Given the description of an element on the screen output the (x, y) to click on. 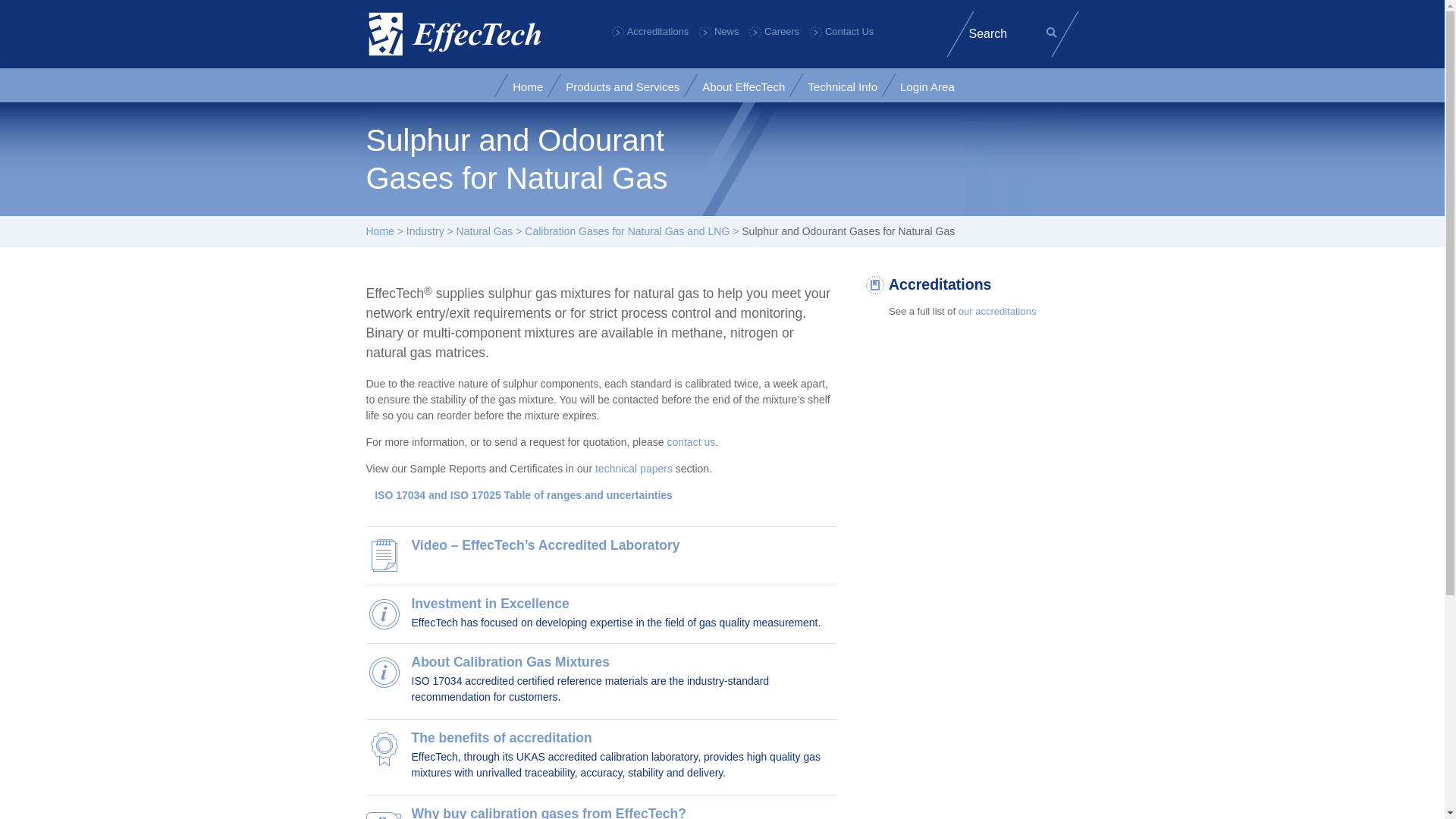
Careers (774, 30)
EffecTech UK (454, 33)
Products and Services (622, 86)
Contact Us (841, 30)
The benefits of accreditation (500, 737)
About Calibration Gas Mixtures (510, 661)
Investment in Excellence (489, 603)
Home (527, 86)
Accreditations (649, 30)
Why buy calibration gases from EffecTech? (547, 812)
News (718, 30)
